Given the description of an element on the screen output the (x, y) to click on. 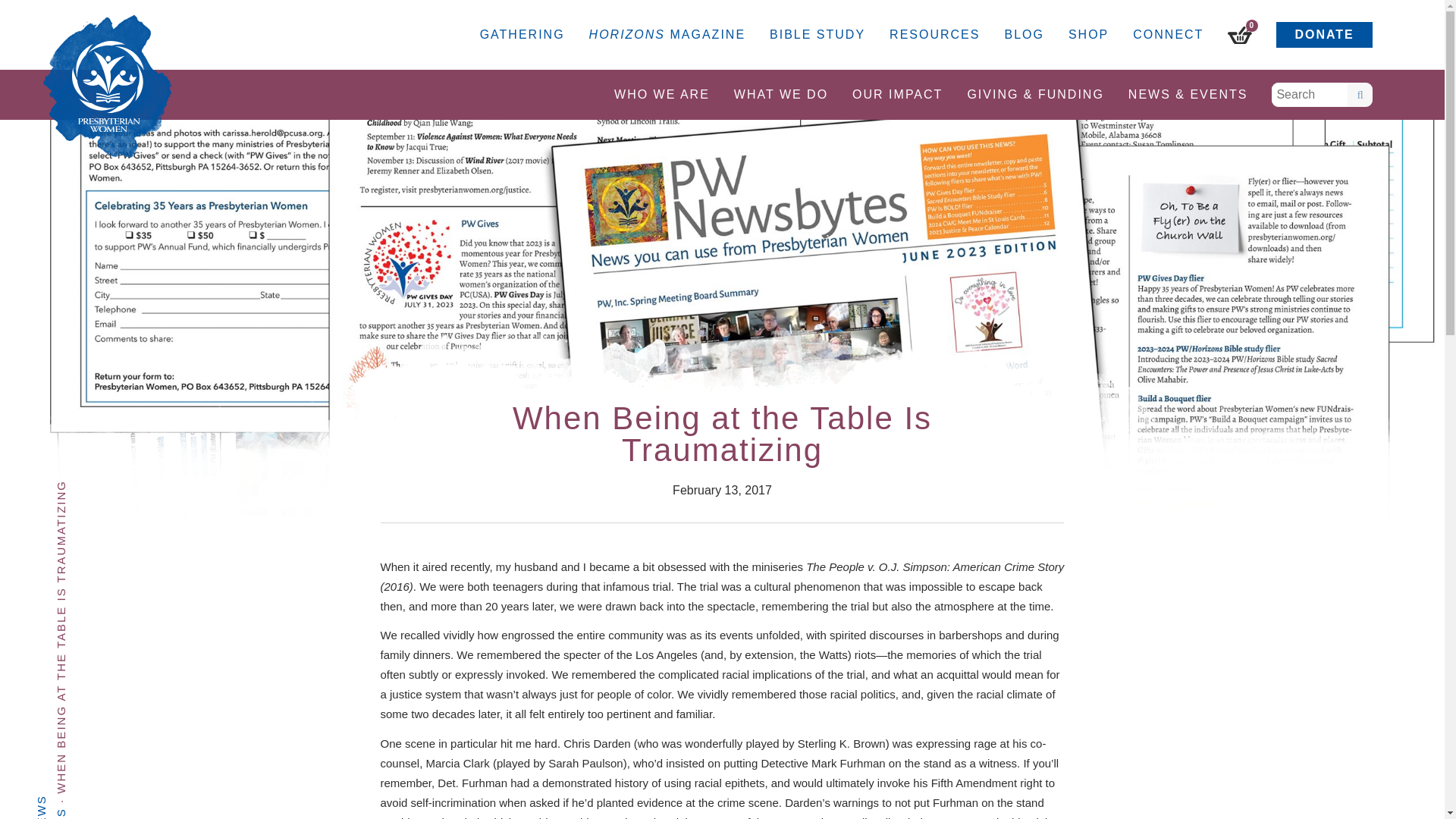
Go to the Horizons category archives. (90, 813)
Presbyterian Women (107, 86)
Go to News. (239, 806)
